Given the description of an element on the screen output the (x, y) to click on. 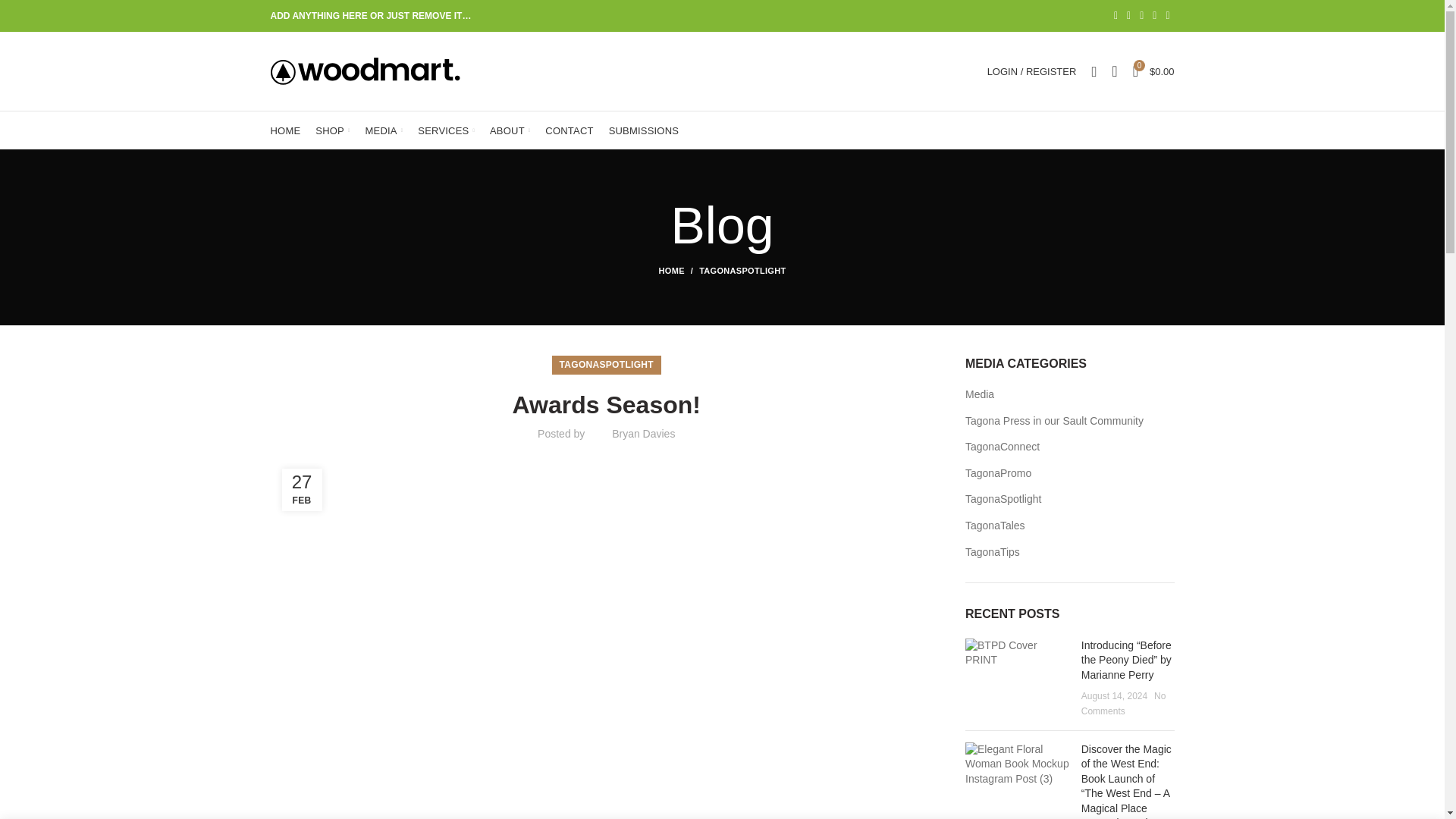
My account (1031, 71)
SERVICES (445, 130)
SHOP (331, 130)
MEDIA (384, 130)
Sign up (782, 596)
HOME (284, 130)
ABOUT (509, 130)
Log in (950, 296)
Shopping cart (1153, 71)
BTPD Cover PRINT (1017, 653)
